Given the description of an element on the screen output the (x, y) to click on. 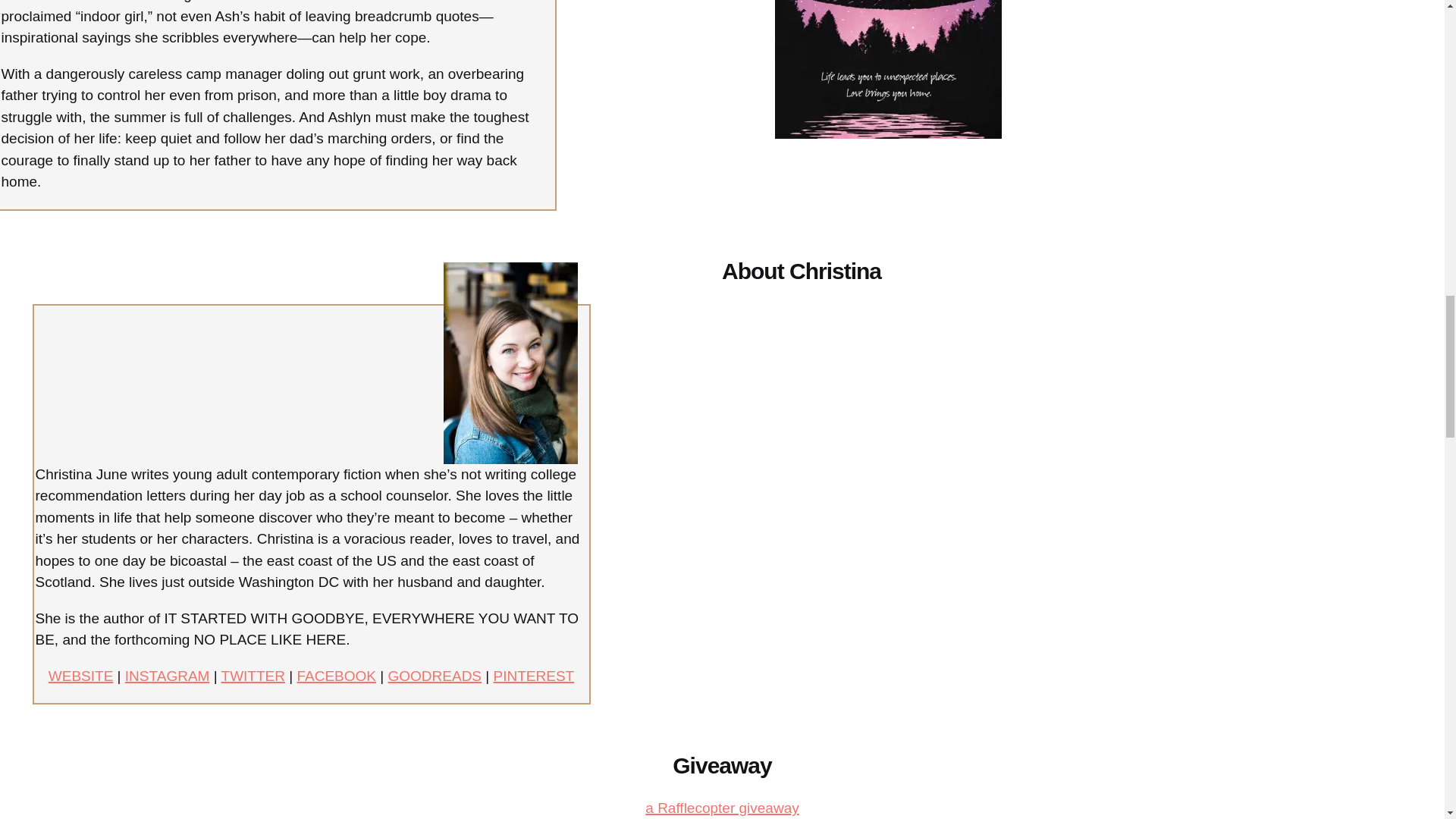
TWITTER (253, 675)
GOODREADS (434, 675)
WEBSITE (80, 675)
FACEBOOK (336, 675)
INSTAGRAM (167, 675)
PINTEREST (534, 675)
